Given the description of an element on the screen output the (x, y) to click on. 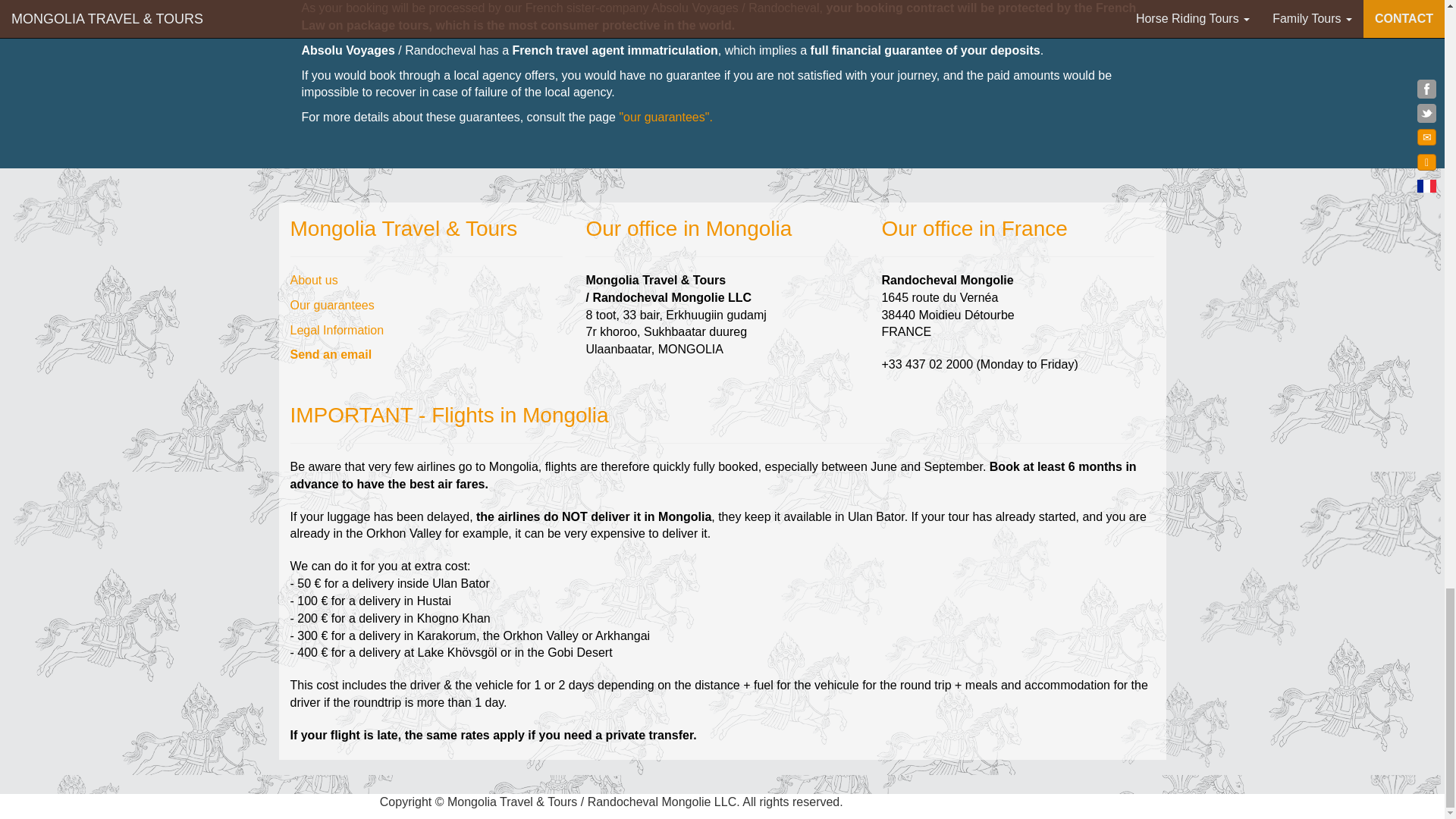
About us (313, 279)
Send an email (330, 354)
Our guarantees (331, 305)
"our guarantees". (664, 116)
Legal Information (336, 329)
